Given the description of an element on the screen output the (x, y) to click on. 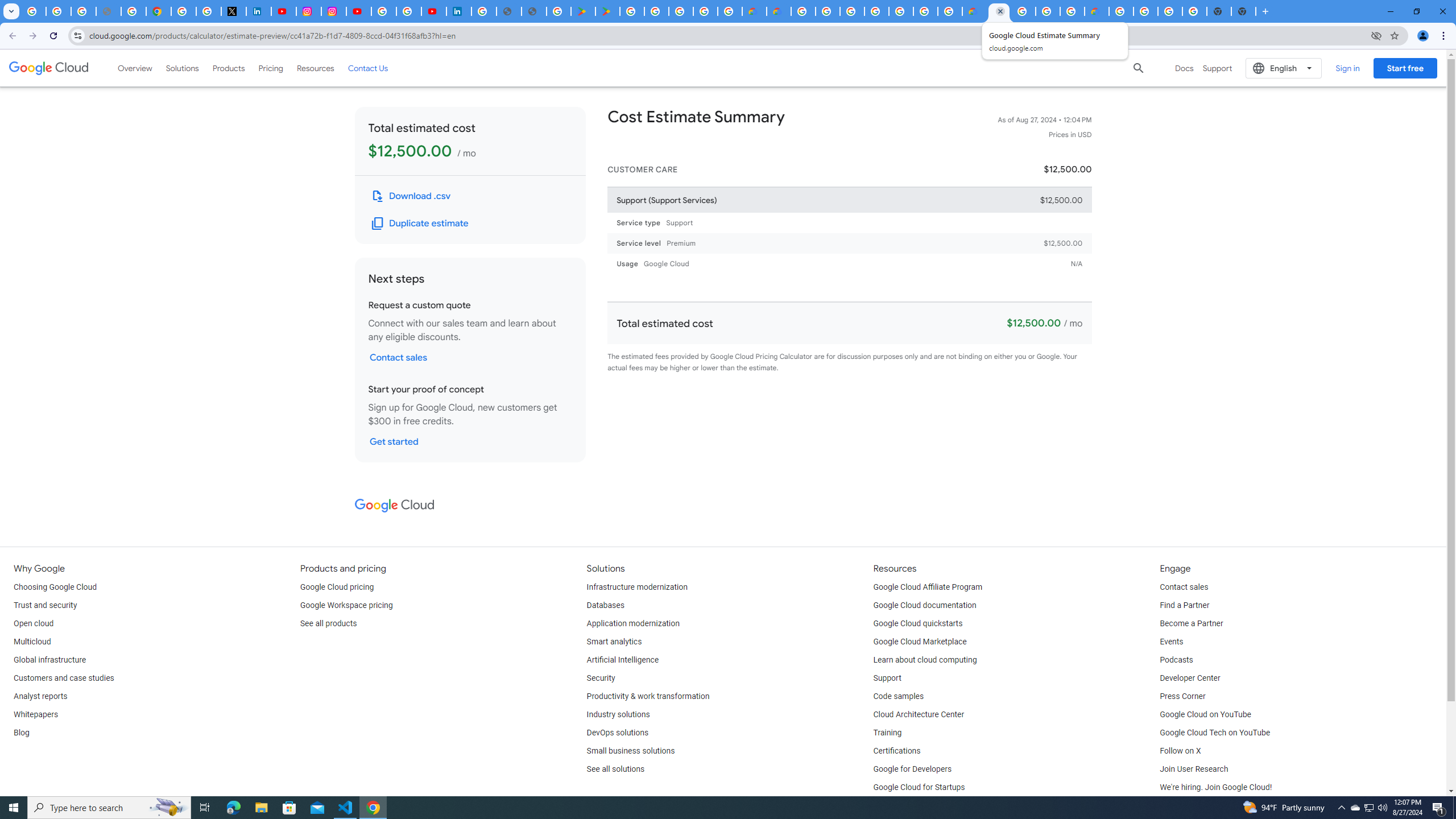
Application modernization (632, 624)
Customer Care | Google Cloud (973, 11)
Whitepapers (35, 714)
Resources (314, 67)
Global infrastructure (49, 660)
Small business solutions (630, 751)
Download .csv file (412, 196)
Google Cloud (48, 67)
Developer Center (1189, 678)
